Given the description of an element on the screen output the (x, y) to click on. 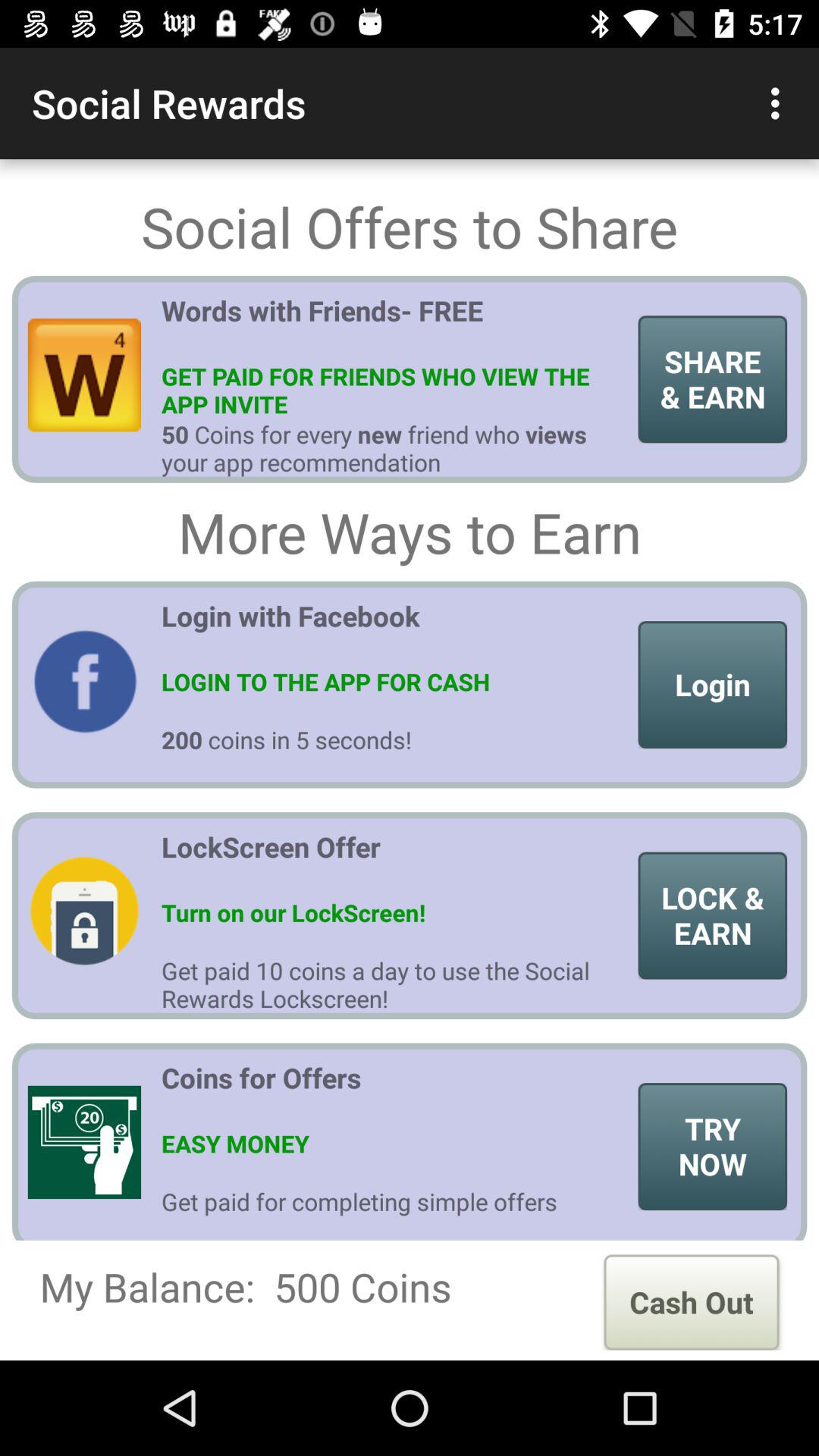
scroll to cash out (691, 1302)
